Given the description of an element on the screen output the (x, y) to click on. 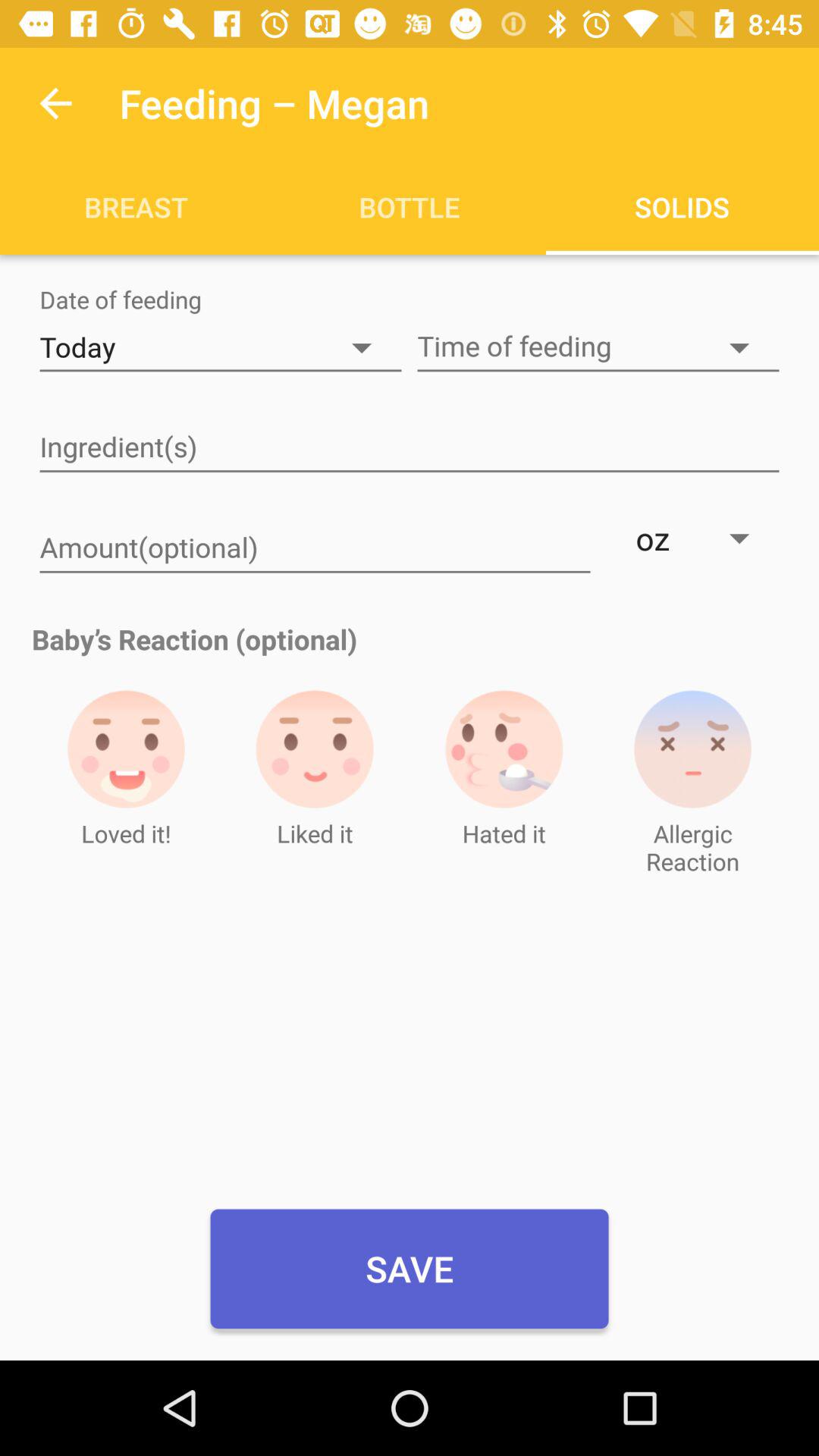
type ingredients (409, 447)
